Given the description of an element on the screen output the (x, y) to click on. 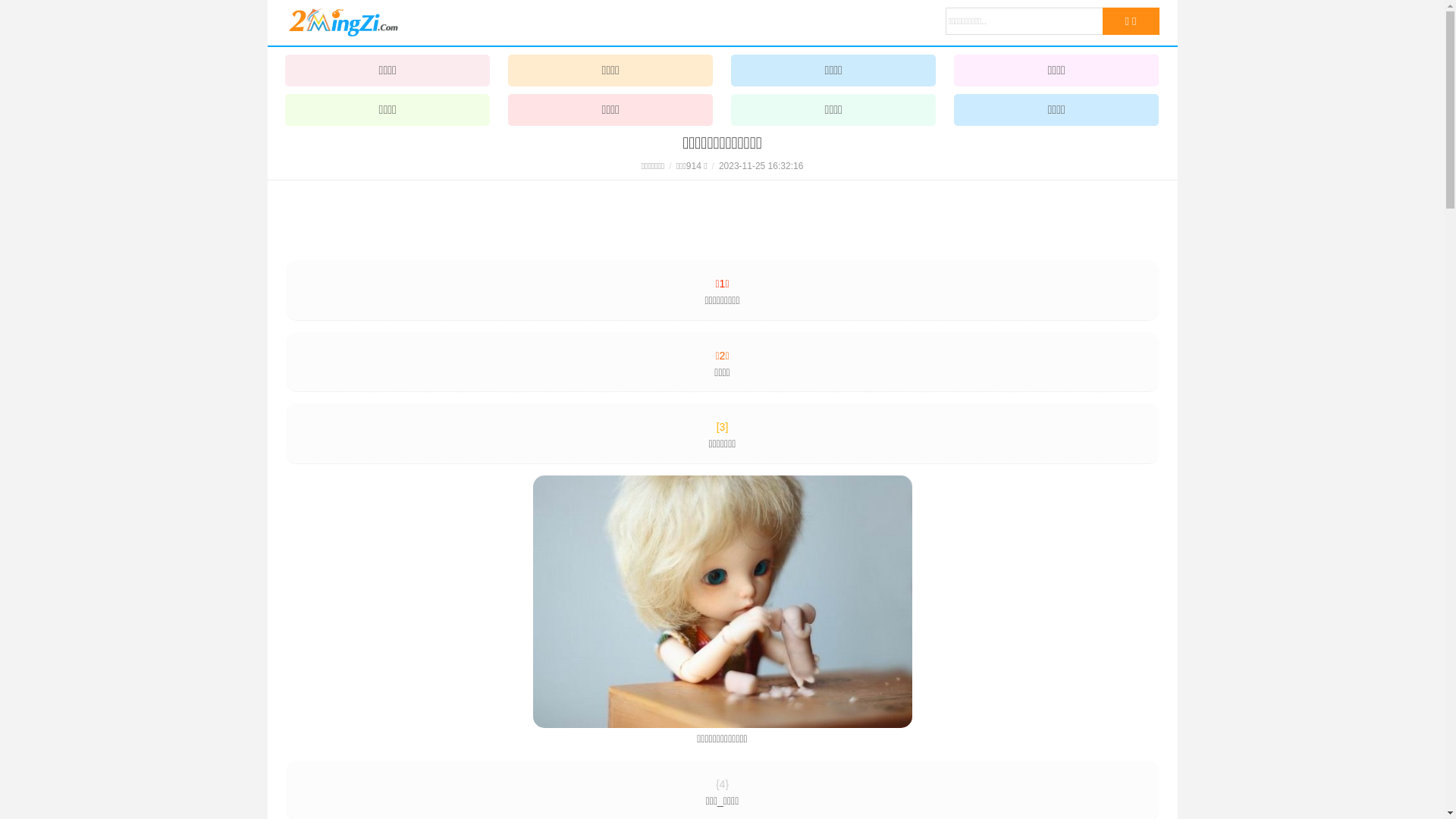
Advertisement Element type: hover (721, 214)
